Given the description of an element on the screen output the (x, y) to click on. 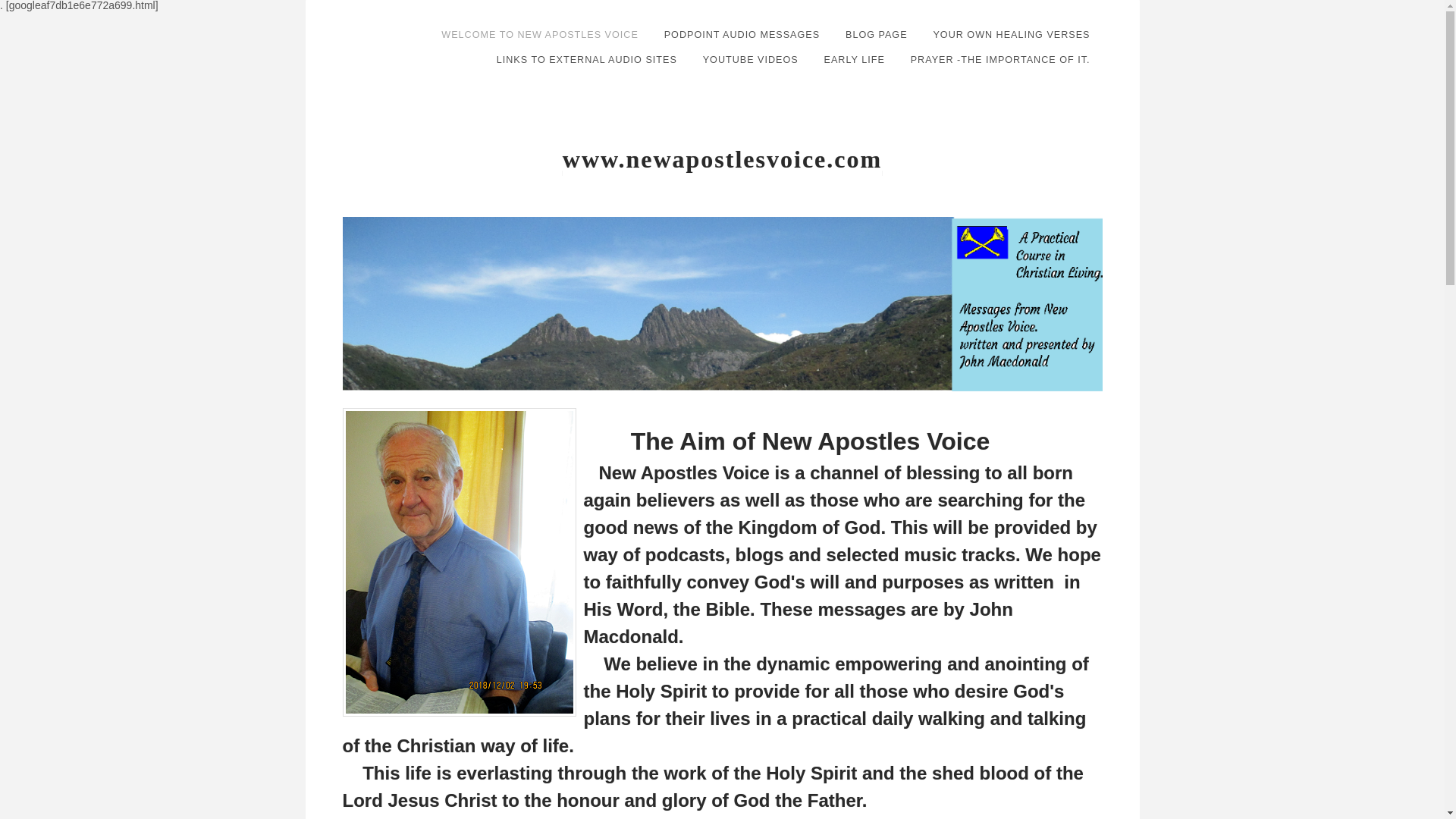
BLOG PAGE (876, 34)
WELCOME TO NEW APOSTLES VOICE (539, 34)
EARLY LIFE (854, 59)
LINKS TO EXTERNAL AUDIO SITES (586, 59)
YOUR OWN HEALING VERSES (1010, 34)
YOUTUBE VIDEOS (750, 59)
PRAYER -THE IMPORTANCE OF IT. (1000, 59)
PODPOINT AUDIO MESSAGES (741, 34)
